Given the description of an element on the screen output the (x, y) to click on. 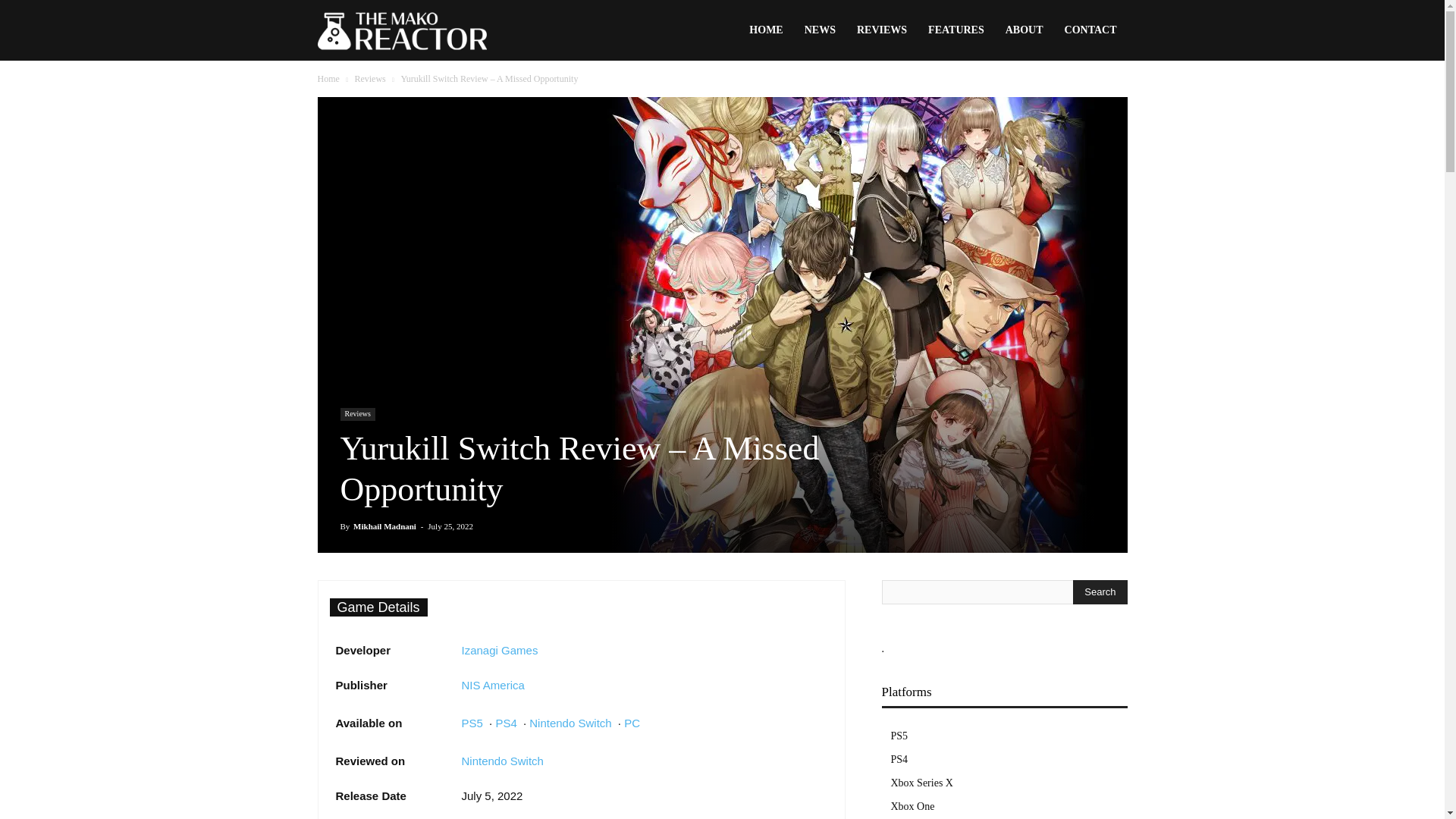
Reviews (356, 413)
NIS America (492, 684)
PS5 (471, 722)
ABOUT (1024, 30)
Mikhail Madnani (384, 525)
FEATURES (955, 30)
PS4 (505, 722)
Nintendo Switch (502, 760)
Izanagi Games (499, 649)
PC (632, 722)
CONTACT (1090, 30)
Nintendo Switch (570, 722)
View all posts in Reviews (369, 78)
Home (328, 78)
